Given the description of an element on the screen output the (x, y) to click on. 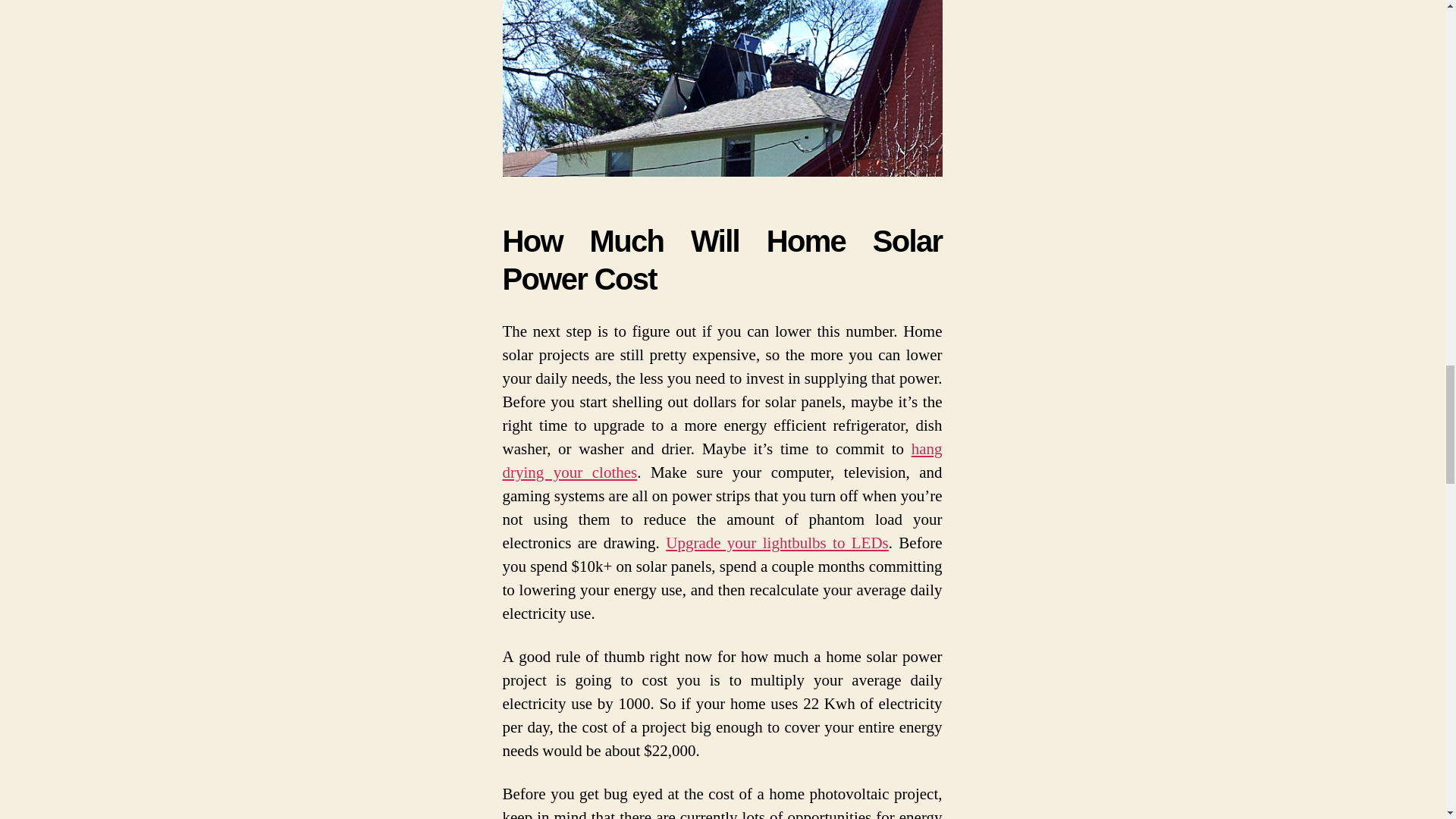
hang drying your clothes (722, 460)
Upgrade your lightbulbs to LEDs (776, 543)
